Given the description of an element on the screen output the (x, y) to click on. 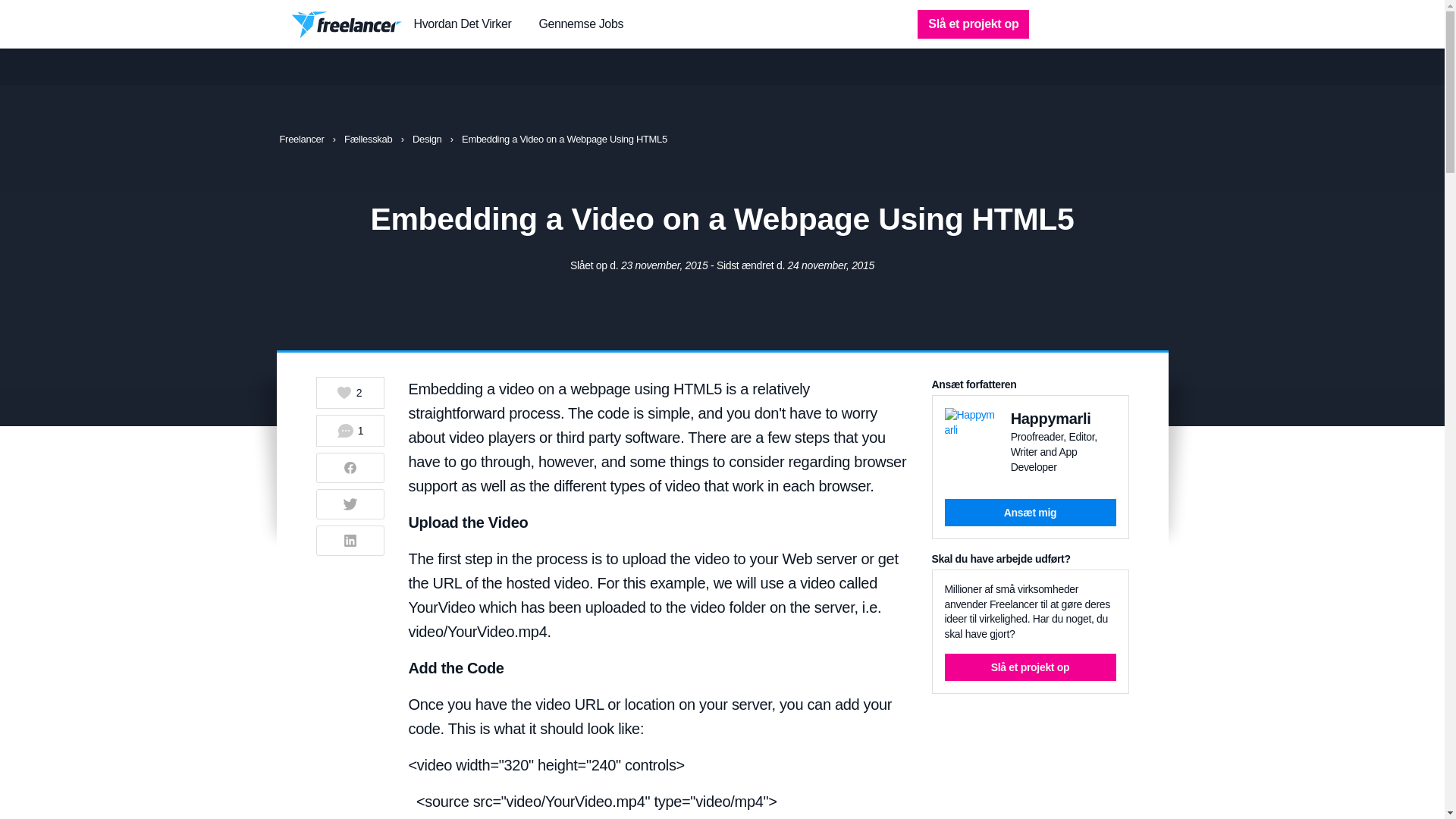
1 (349, 430)
Brugernes stemmer (347, 393)
Hvordan Det Virker (462, 24)
Embedding a Video on a Webpage Using HTML5 (563, 138)
Gennemse Jobs (580, 24)
Design (428, 138)
Freelancer (302, 138)
Happymarli (1050, 418)
